Given the description of an element on the screen output the (x, y) to click on. 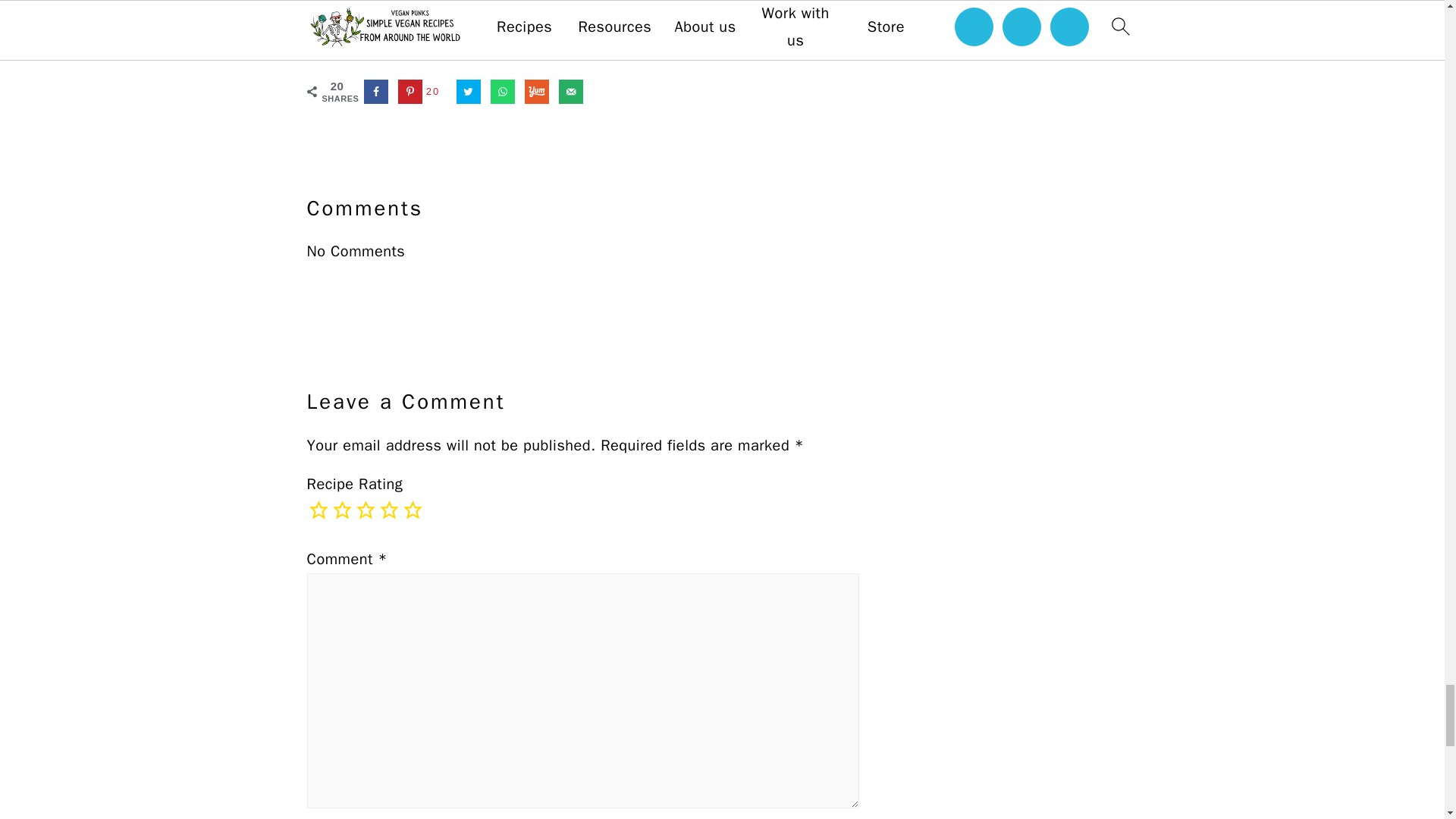
Share on Twitter (468, 91)
Share on Facebook (376, 91)
Send over email (571, 91)
Share on WhatsApp (502, 91)
Share on Yummly (536, 91)
Save to Pinterest (421, 91)
